Given the description of an element on the screen output the (x, y) to click on. 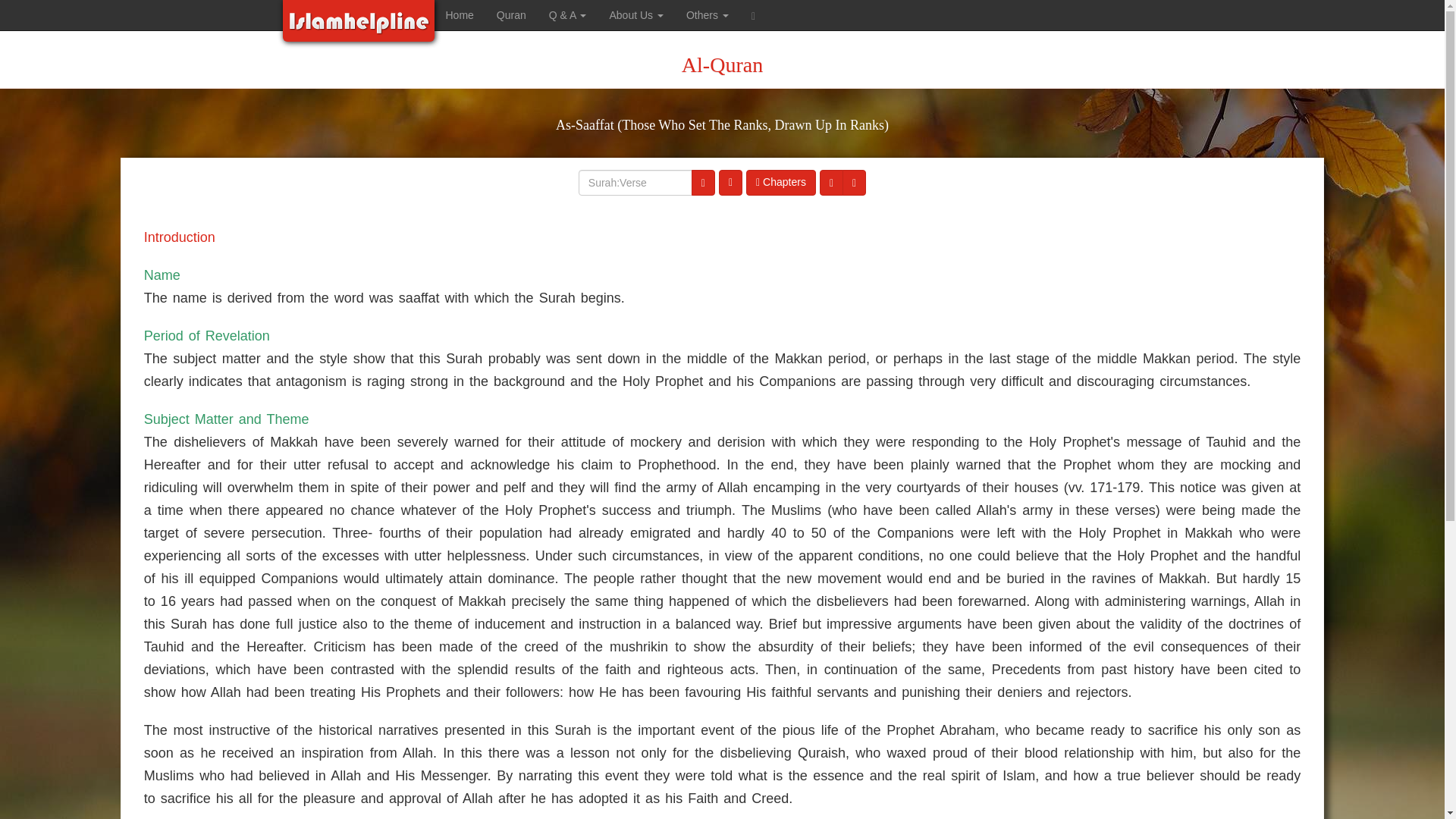
Chapters (780, 182)
Home (458, 15)
About Us (635, 15)
Others (707, 15)
Quran (510, 15)
